Given the description of an element on the screen output the (x, y) to click on. 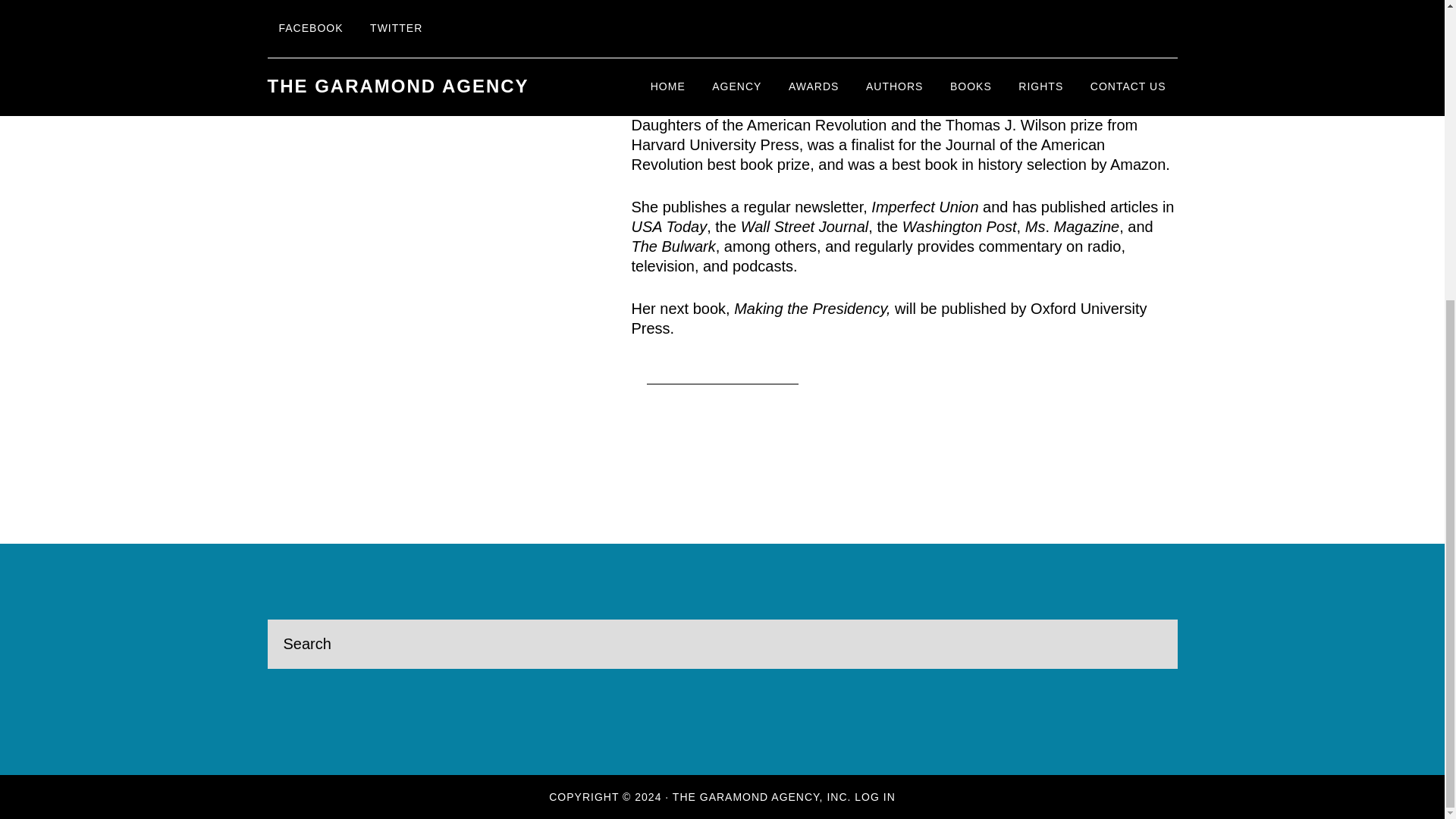
LOG IN (874, 797)
